Given the description of an element on the screen output the (x, y) to click on. 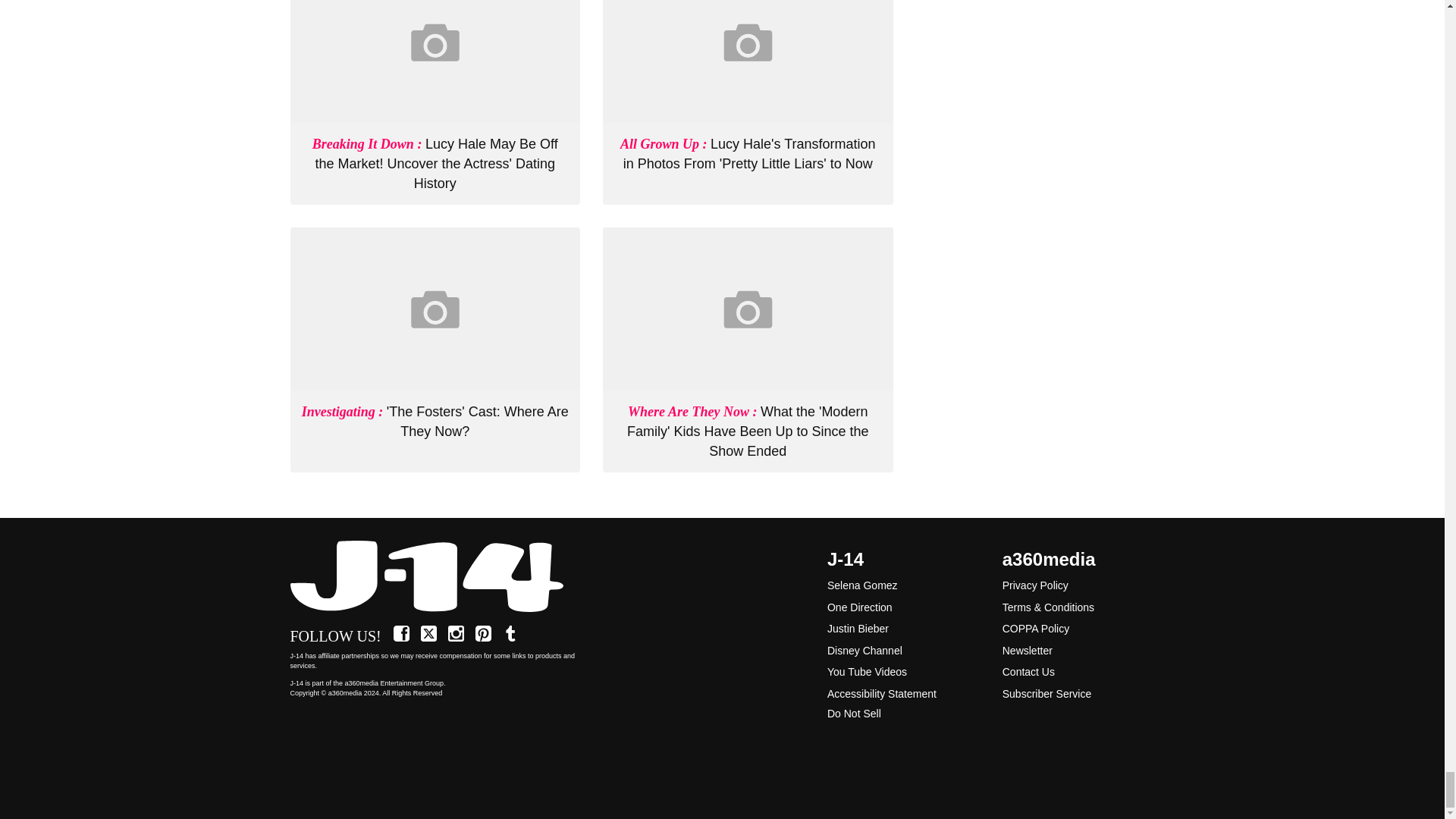
Home (434, 577)
